Given the description of an element on the screen output the (x, y) to click on. 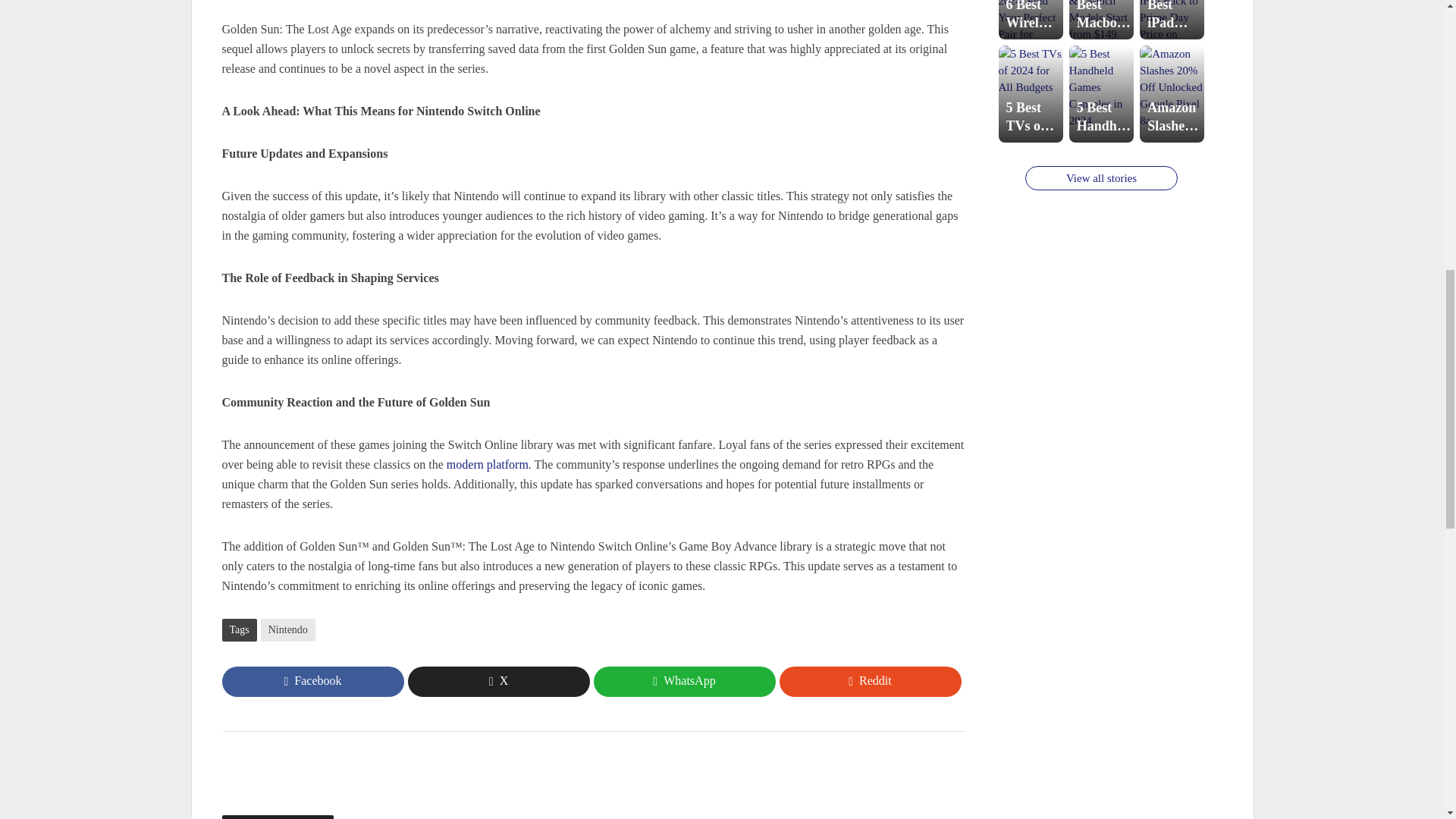
WhatsApp (683, 681)
Nintendo (287, 630)
X (498, 681)
Reddit (869, 681)
Facebook (312, 681)
modern platform (487, 465)
